Given the description of an element on the screen output the (x, y) to click on. 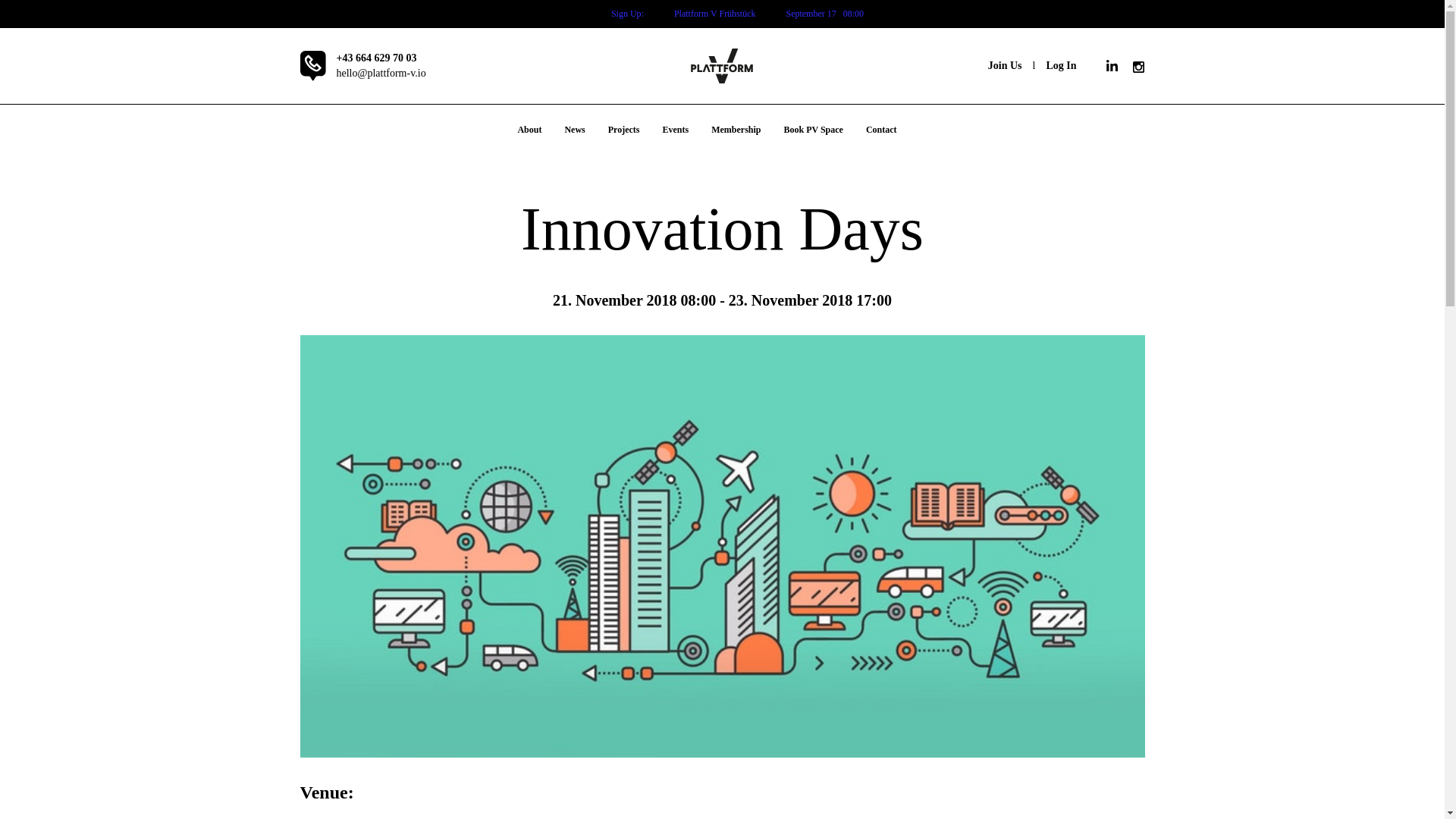
Events (675, 129)
Join Us (1005, 65)
Log In (1060, 65)
About (529, 129)
Projects (623, 129)
Membership (735, 129)
News (574, 129)
Book PV Space (812, 129)
Contact (881, 129)
